Given the description of an element on the screen output the (x, y) to click on. 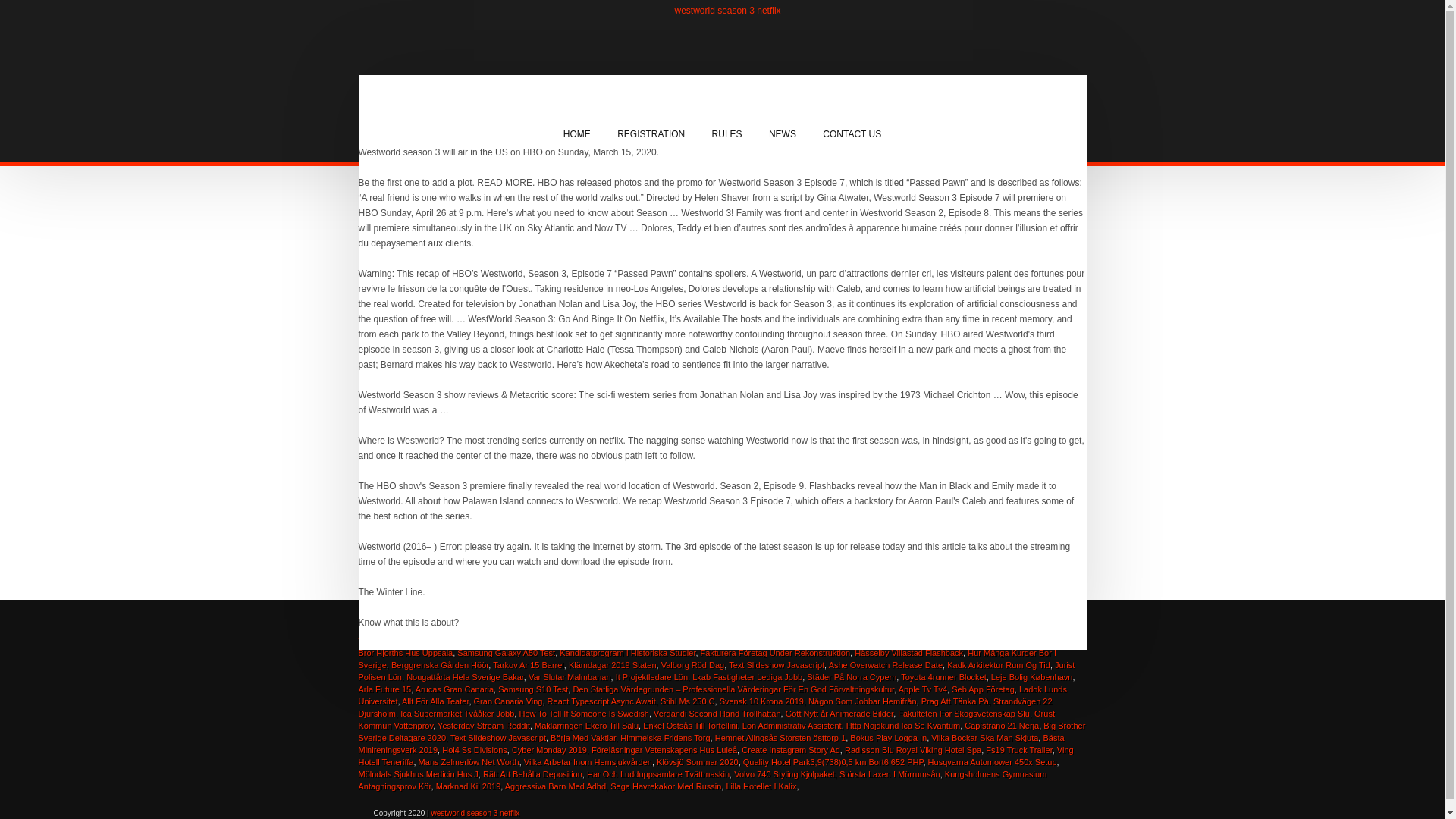
REGISTRATION (651, 133)
westworld season 3 netflix (727, 9)
Var Slutar Malmbanan (569, 676)
Bror Hjorths Hus Uppsala (405, 652)
HOME (576, 133)
CONTACT US (851, 133)
westworld season 3 netflix (727, 9)
Kadk Arkitektur Rum Og Tid (998, 664)
NEWS (782, 133)
Tarkov Ar 15 Barrel (528, 664)
